Given the description of an element on the screen output the (x, y) to click on. 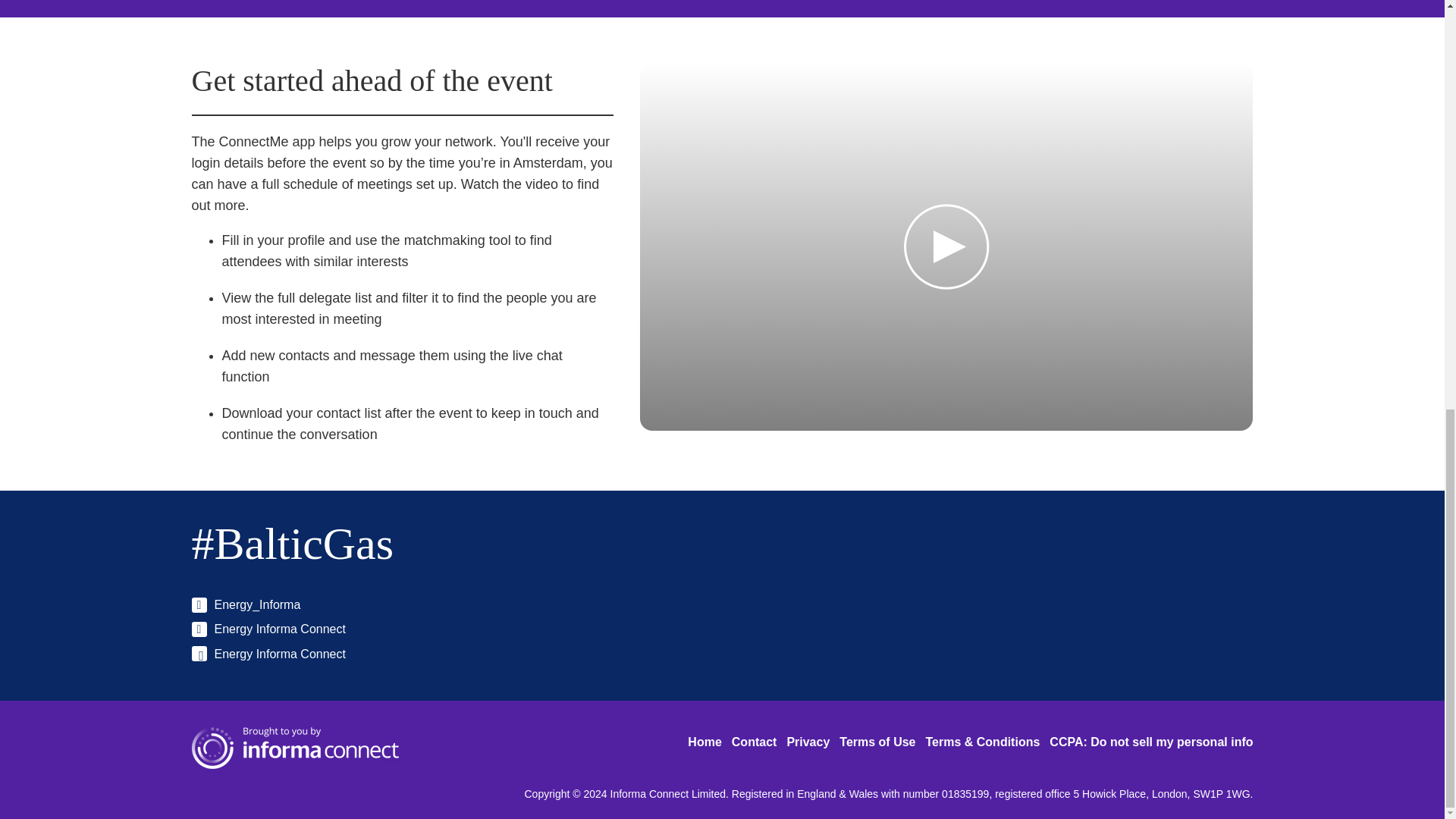
Home (703, 741)
CCPA: Do not sell my personal info (1150, 741)
Terms of Use (877, 741)
Energy Informa Connect (267, 654)
Privacy (807, 741)
Contact (754, 741)
Energy Informa Connect (267, 629)
